Given the description of an element on the screen output the (x, y) to click on. 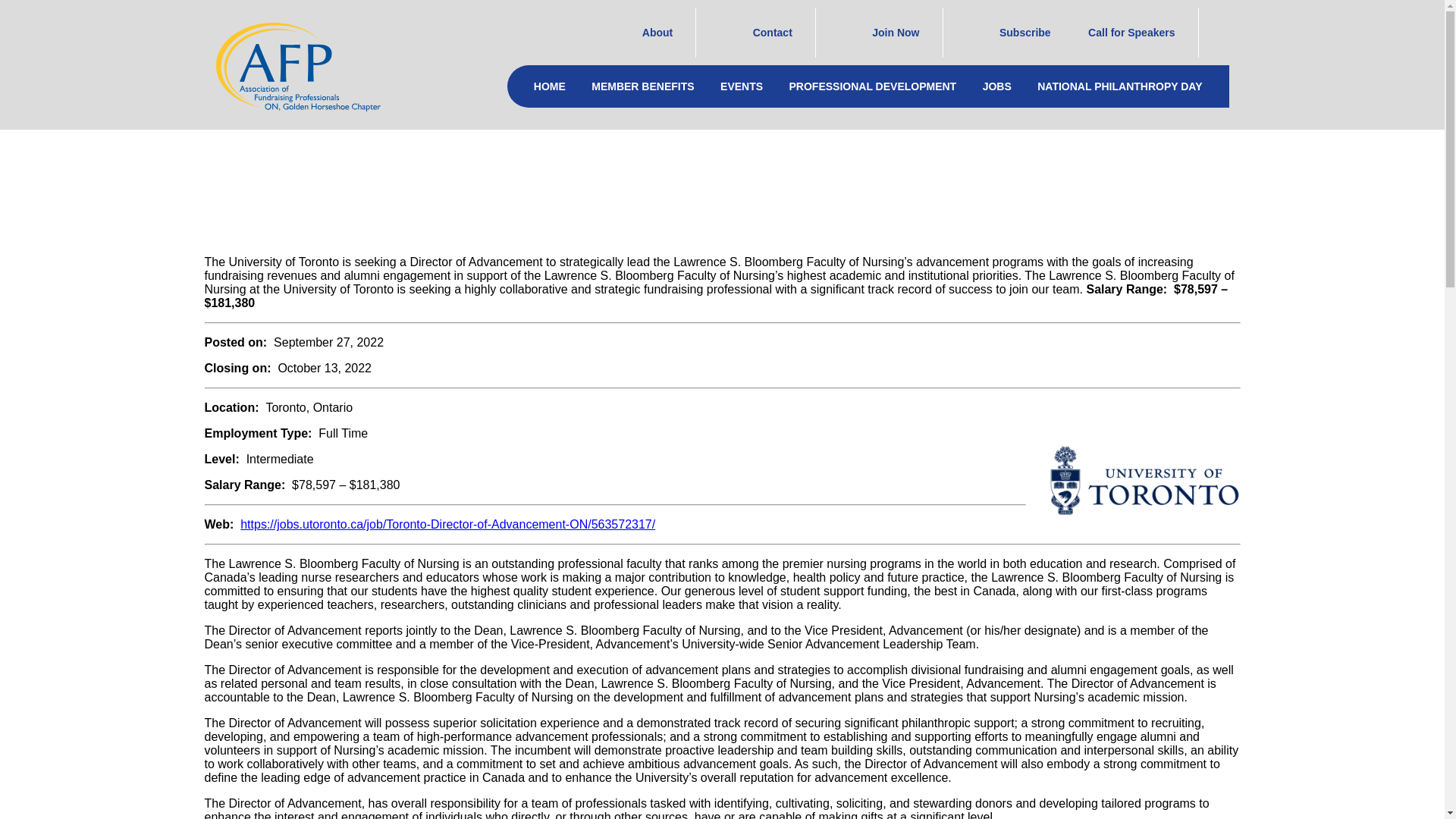
AFP (297, 66)
About (651, 32)
Subscribe (1008, 32)
HOME (549, 86)
Call for Speakers (1126, 32)
PROFESSIONAL DEVELOPMENT (872, 86)
MEMBER BENEFITS (641, 86)
EVENTS (741, 86)
NATIONAL PHILANTHROPY DAY (1119, 86)
Join Now (890, 32)
